Given the description of an element on the screen output the (x, y) to click on. 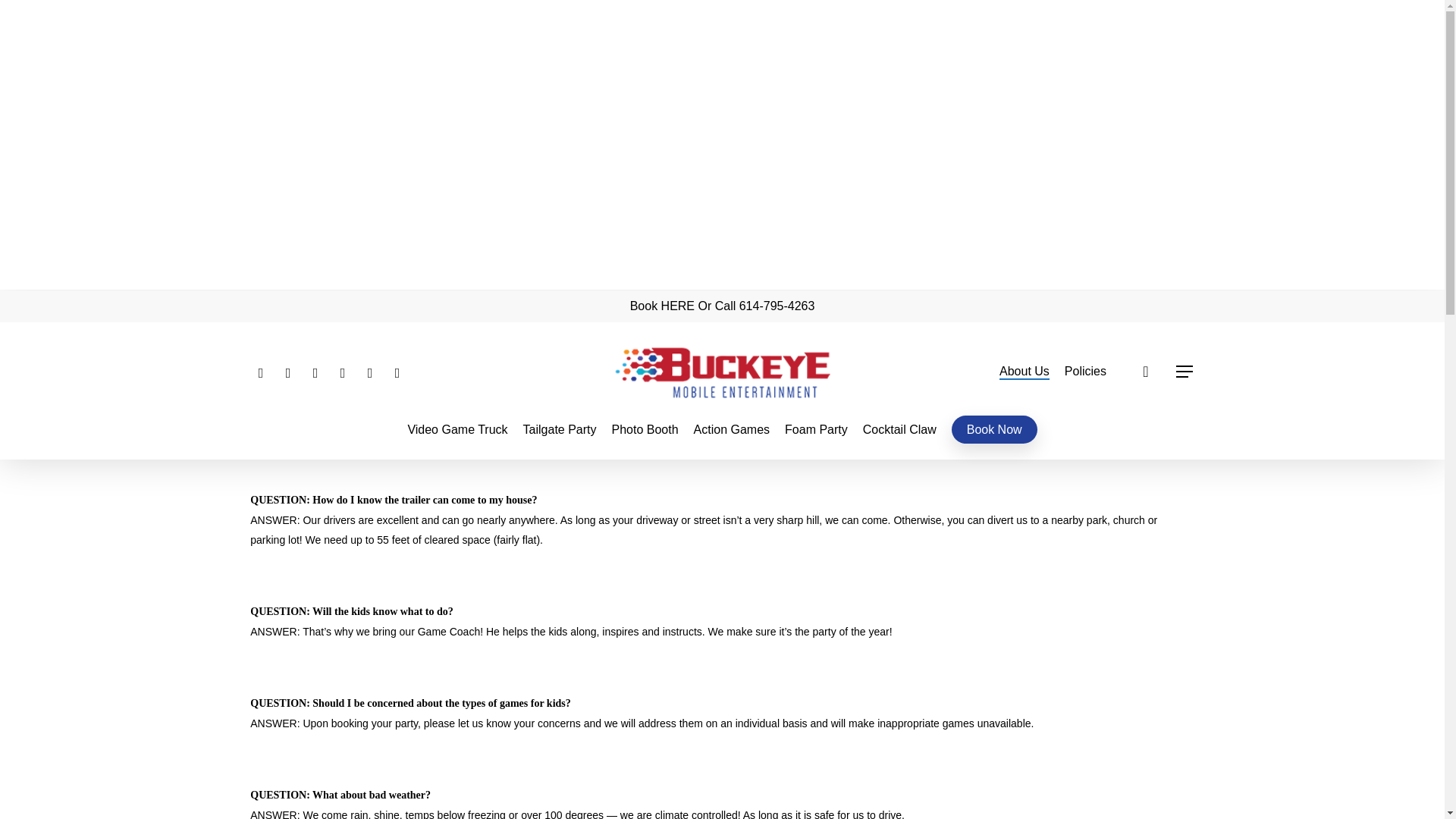
Foam Party (815, 429)
Policies (1085, 371)
email (397, 371)
Action Games (732, 429)
Photo Booth (644, 429)
Book Now (994, 429)
HERE (677, 305)
614-795-4263 (777, 305)
About Us (1023, 371)
linkedin (315, 371)
